Given the description of an element on the screen output the (x, y) to click on. 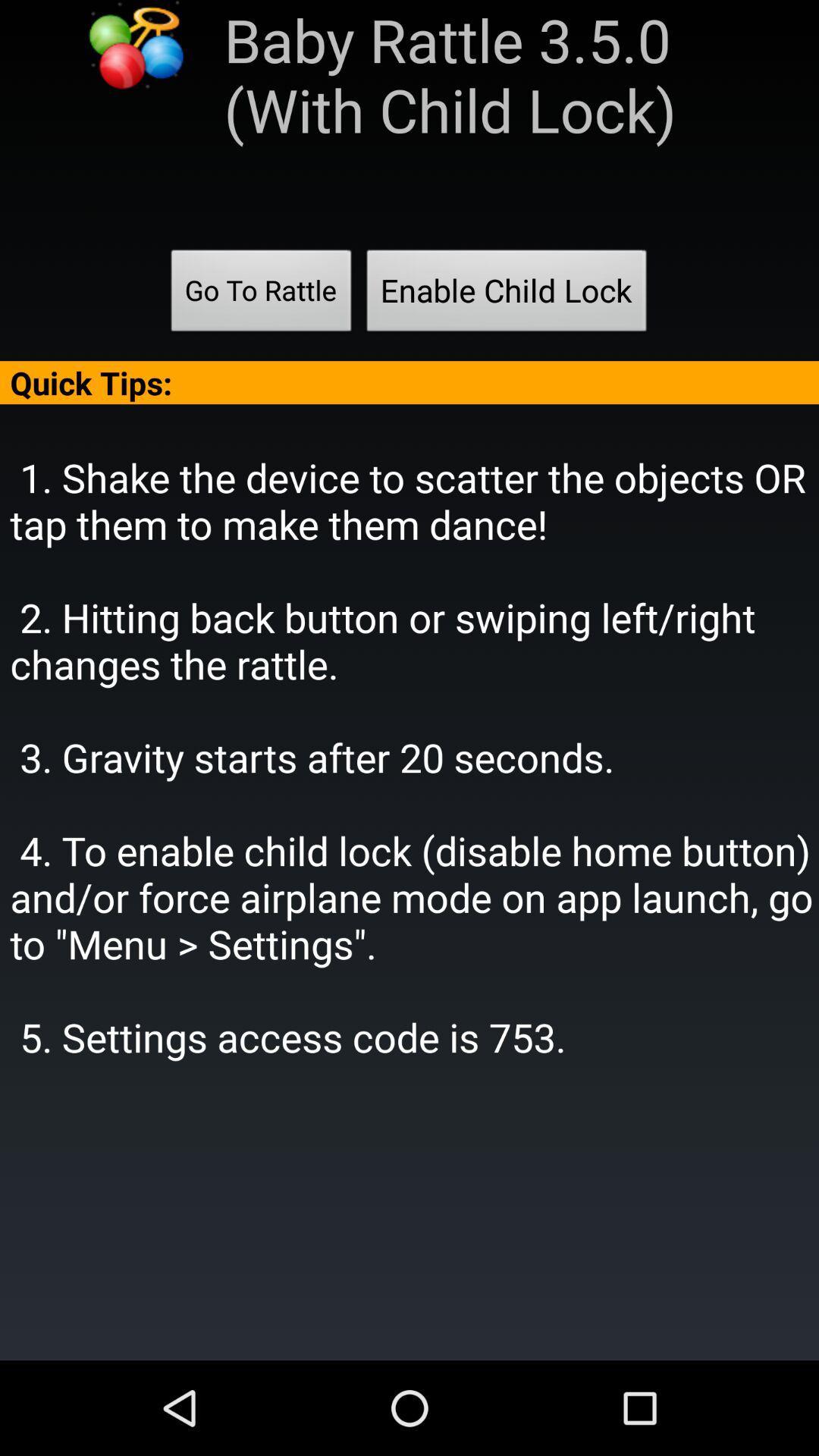
turn off the item above quick tips: app (261, 294)
